Given the description of an element on the screen output the (x, y) to click on. 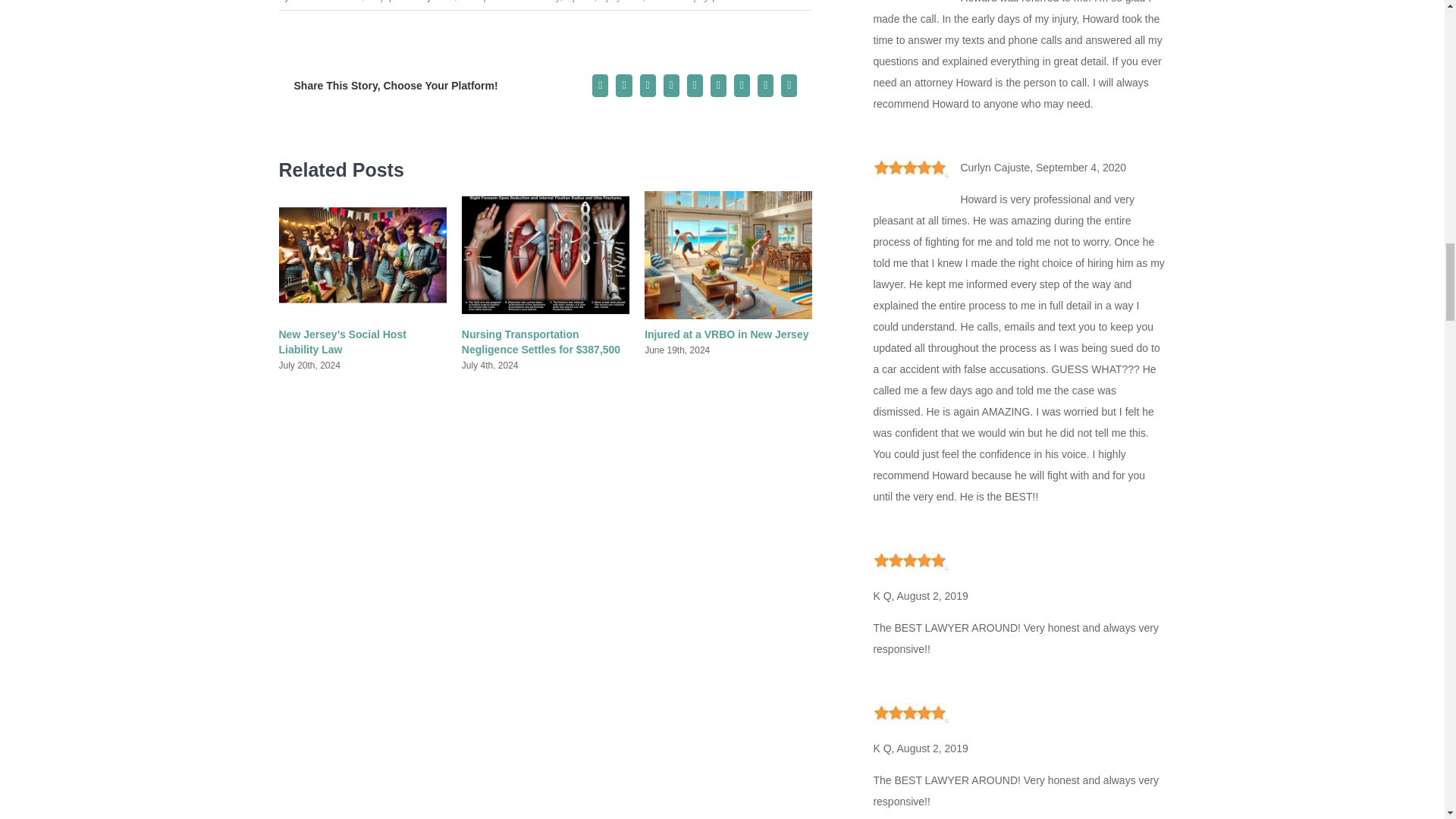
Posts by Howard P. Lesnik, Esq. (338, 1)
